Given the description of an element on the screen output the (x, y) to click on. 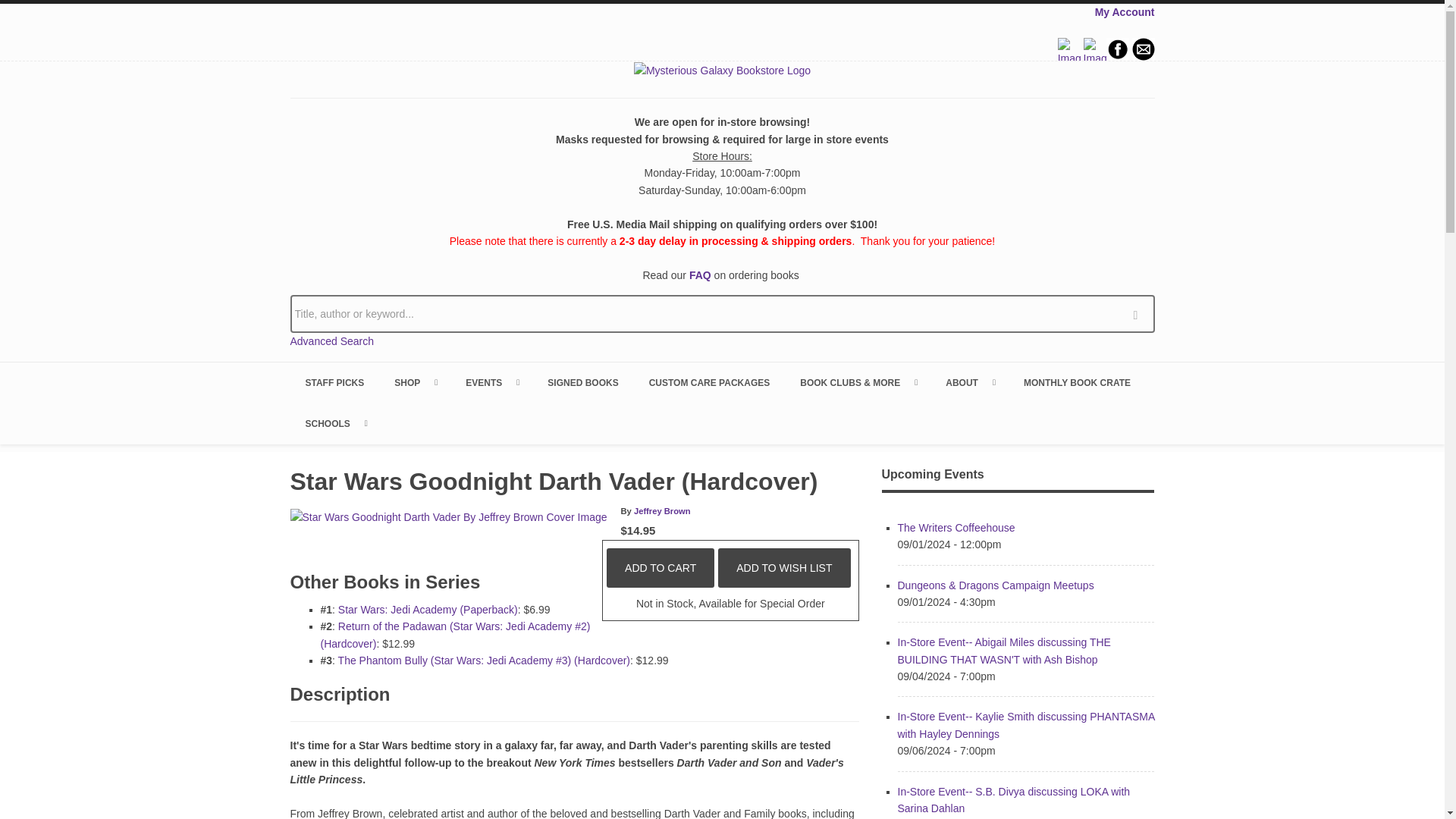
My Account (1124, 11)
Home (721, 69)
STAFF PICKS (333, 382)
EVENTS (490, 382)
SHOP (413, 382)
Add to Wish List (783, 567)
Title, author or keyword... (721, 313)
Add to Cart (660, 567)
Advanced Search (331, 340)
